Given the description of an element on the screen output the (x, y) to click on. 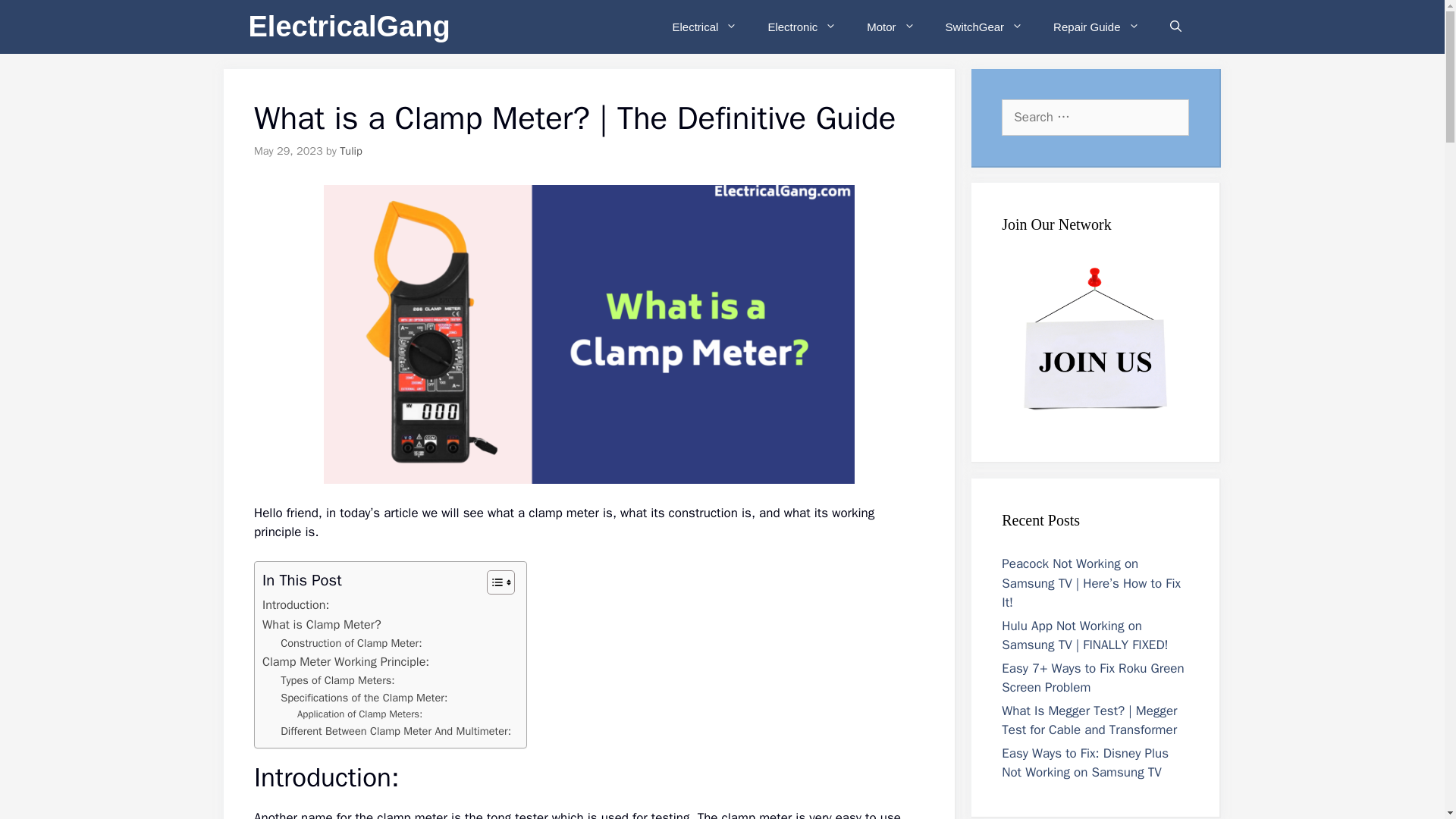
Introduction: (295, 605)
Electronic (801, 26)
Motor (890, 26)
Application of Clamp Meters: (359, 714)
Clamp Meter Working Principle: (345, 661)
Construction of Clamp Meter: (351, 642)
Types of Clamp Meters: (337, 680)
View all posts by Tulip (350, 151)
ElectricalGang (348, 27)
